Given the description of an element on the screen output the (x, y) to click on. 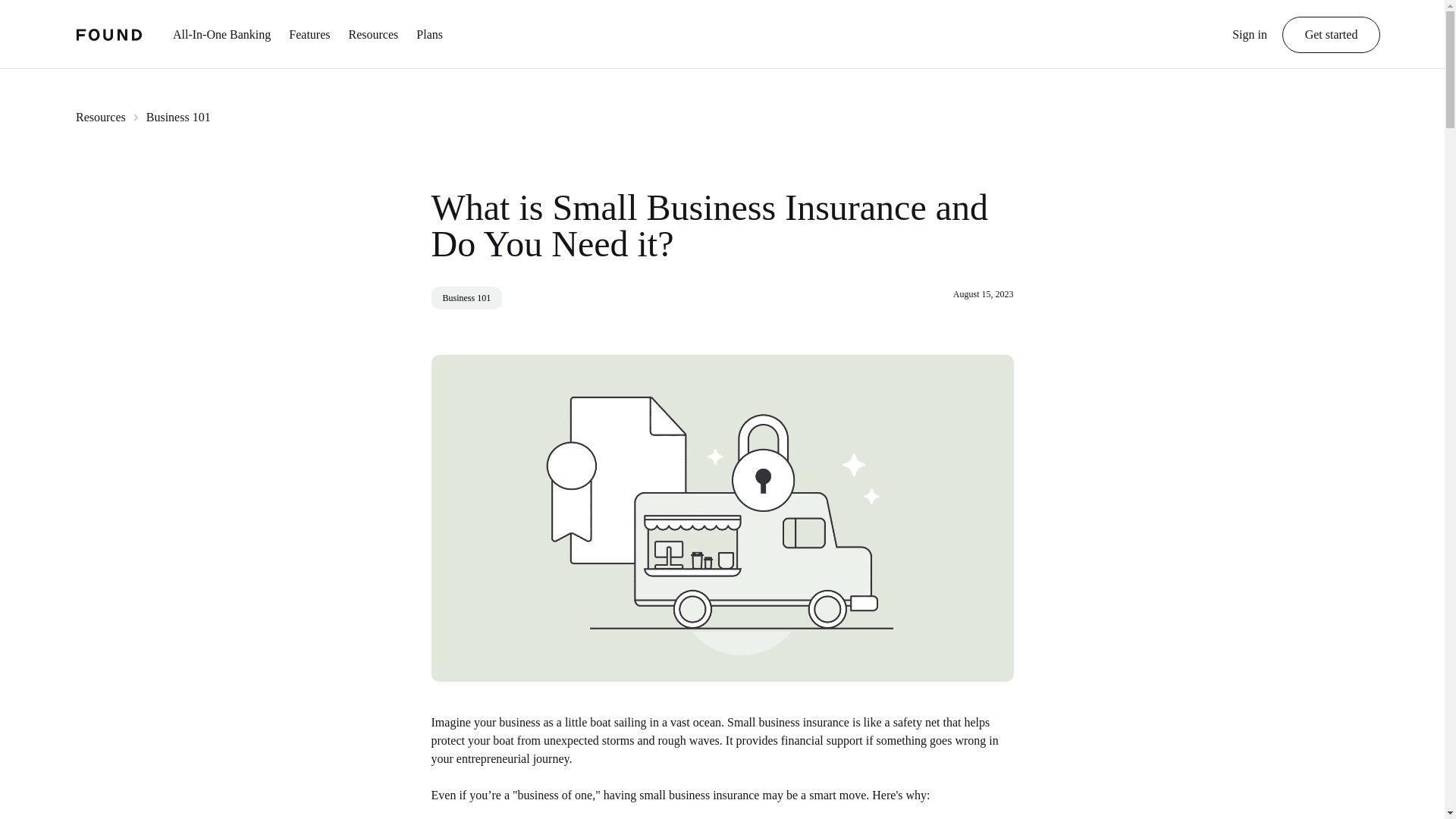
Sign in (1248, 41)
Business 101 (466, 297)
Resources (100, 117)
Business 101 (179, 117)
Get started (1331, 34)
